Given the description of an element on the screen output the (x, y) to click on. 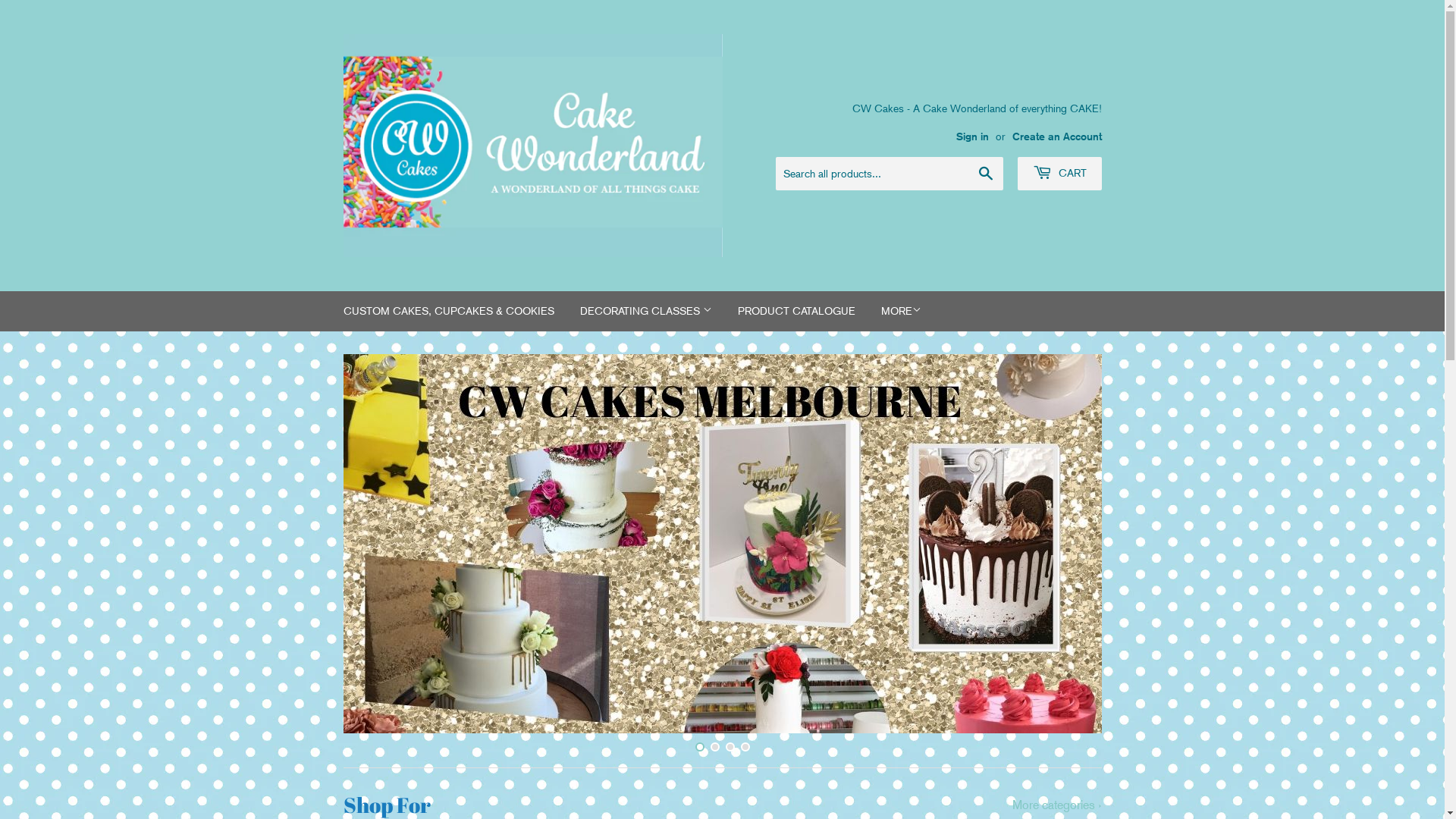
4 Element type: text (744, 746)
CUSTOM CAKES, CUPCAKES & COOKIES Element type: text (448, 310)
CART Element type: text (1059, 173)
Search Element type: text (986, 174)
1 Element type: text (698, 746)
Sign in Element type: text (971, 136)
PRODUCT CATALOGUE Element type: text (796, 310)
3 Element type: text (729, 746)
Create an Account Element type: text (1056, 136)
DECORATING CLASSES Element type: text (645, 310)
2 Element type: text (713, 746)
MORE Element type: text (900, 310)
